Given the description of an element on the screen output the (x, y) to click on. 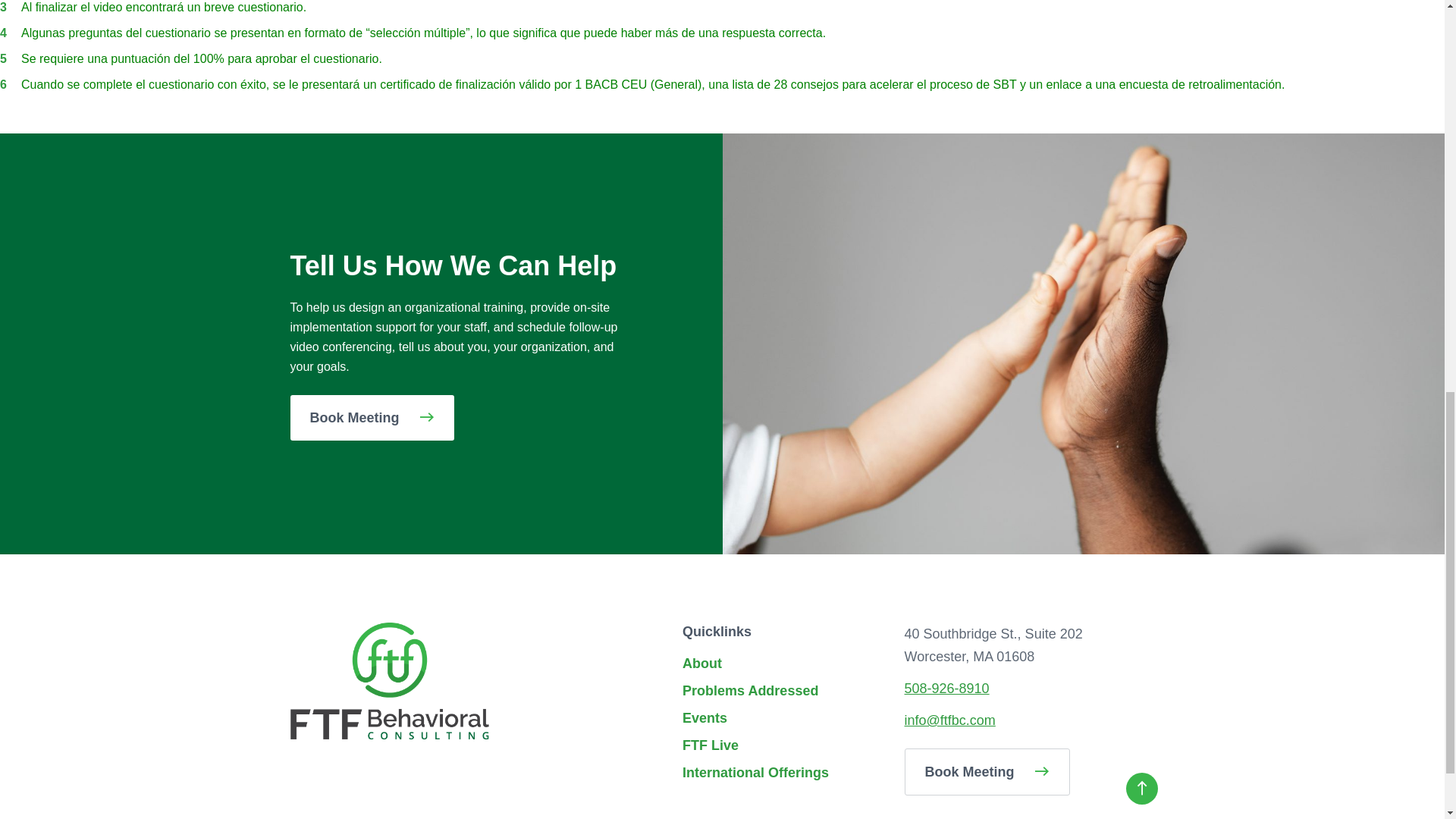
508-926-8910 (947, 688)
About (702, 663)
Problems Addressed (750, 690)
International Offerings (755, 772)
FTF Live (710, 744)
Events (704, 717)
Book Meeting (370, 416)
